Given the description of an element on the screen output the (x, y) to click on. 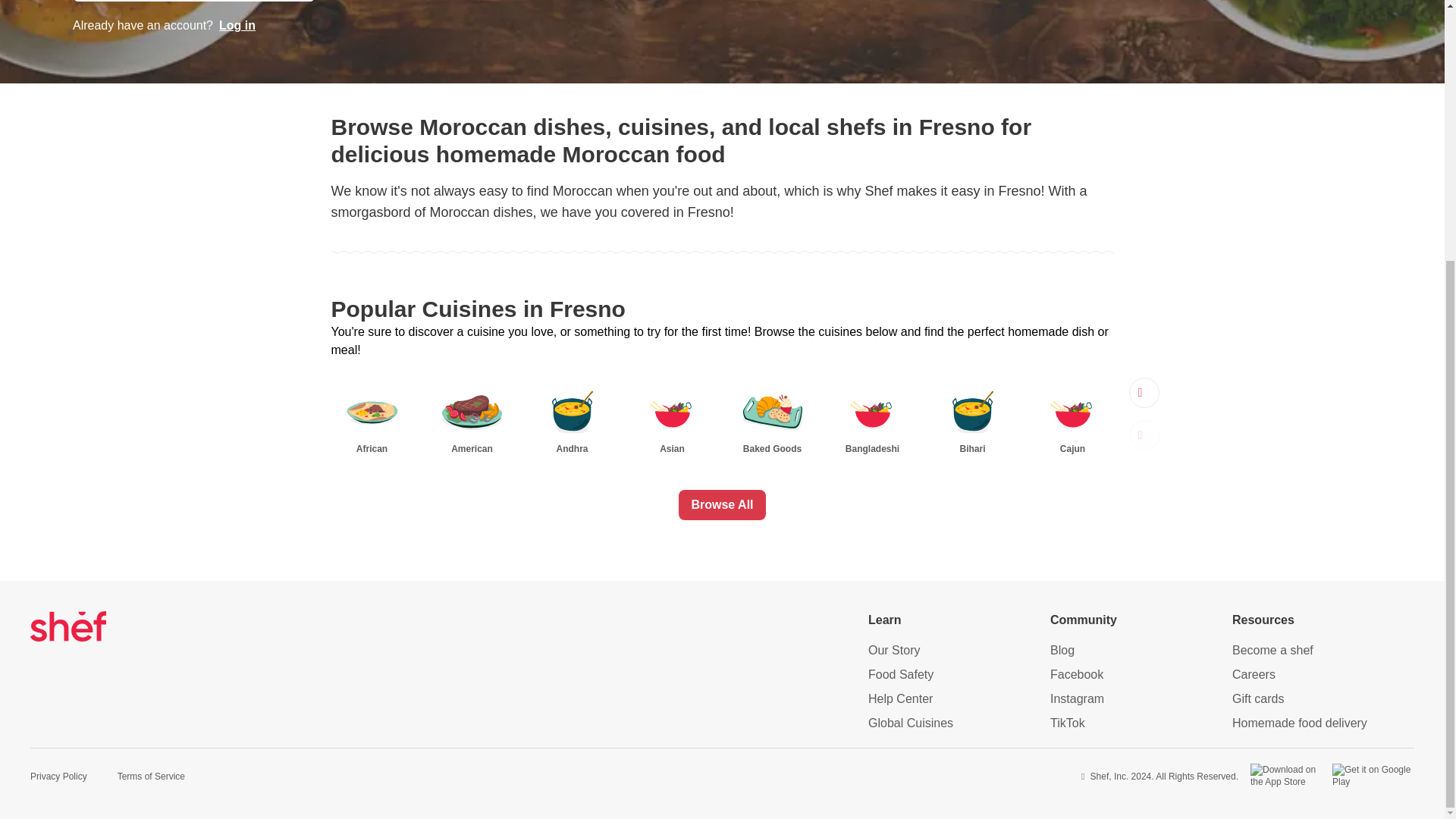
American (471, 418)
Bihari (972, 418)
Log in (237, 25)
Baked Goods (771, 418)
Cajun (1071, 418)
African (371, 418)
Andhra (571, 418)
Asian (671, 418)
Bangladeshi (871, 418)
